Given the description of an element on the screen output the (x, y) to click on. 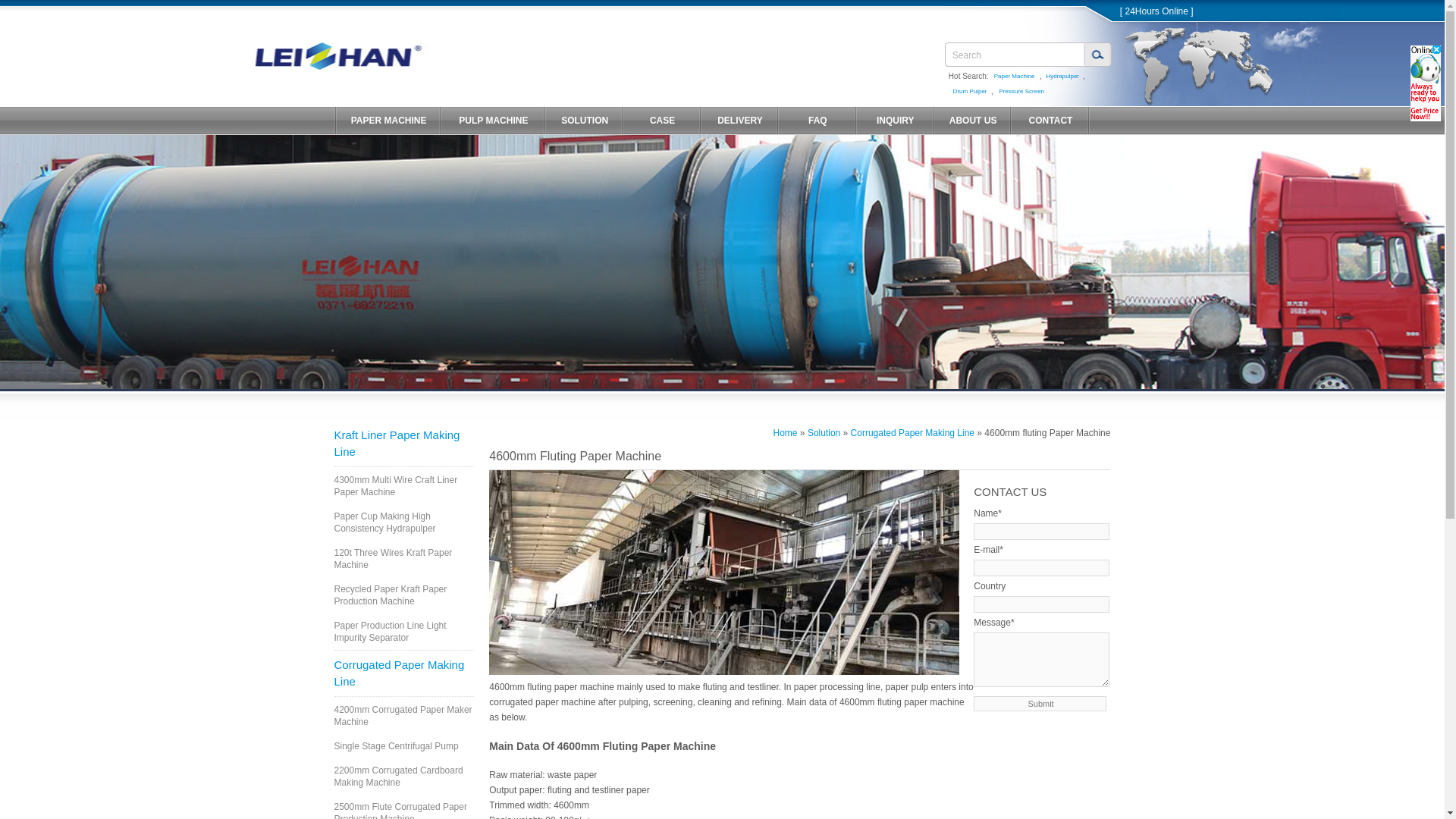
Pressure Screen (1026, 92)
Drum Pulper (973, 92)
Submit (1040, 703)
SOLUTION (584, 120)
CASE (661, 120)
PULP MACHINE (493, 120)
FAQ (817, 120)
Hydrapulper (1065, 77)
Paper Machine (1017, 77)
DELIVERY (739, 120)
Search (1014, 55)
PAPER MACHINE (388, 120)
chat online (1156, 10)
